Given the description of an element on the screen output the (x, y) to click on. 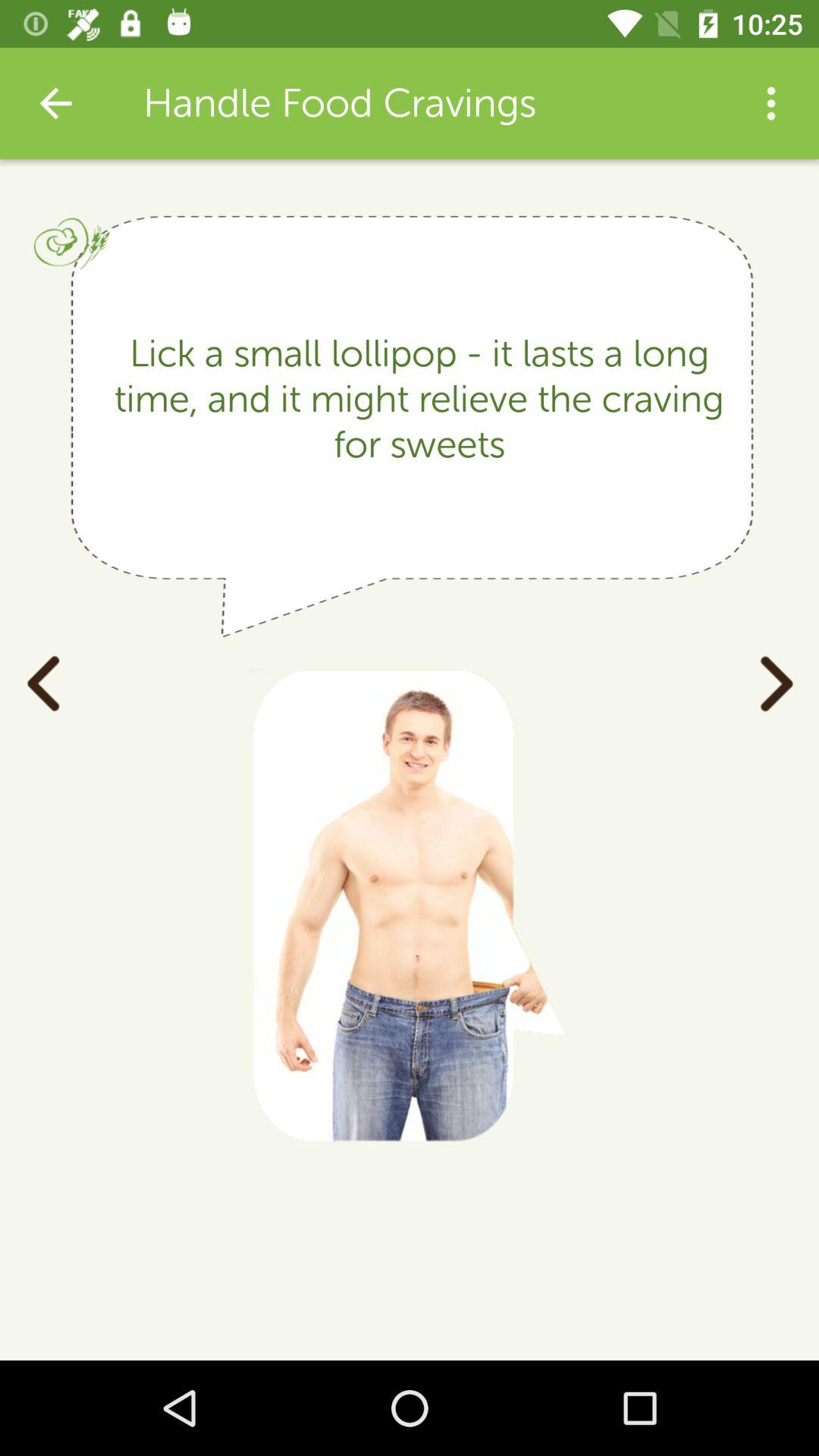
choose the item at the top right corner (771, 103)
